Given the description of an element on the screen output the (x, y) to click on. 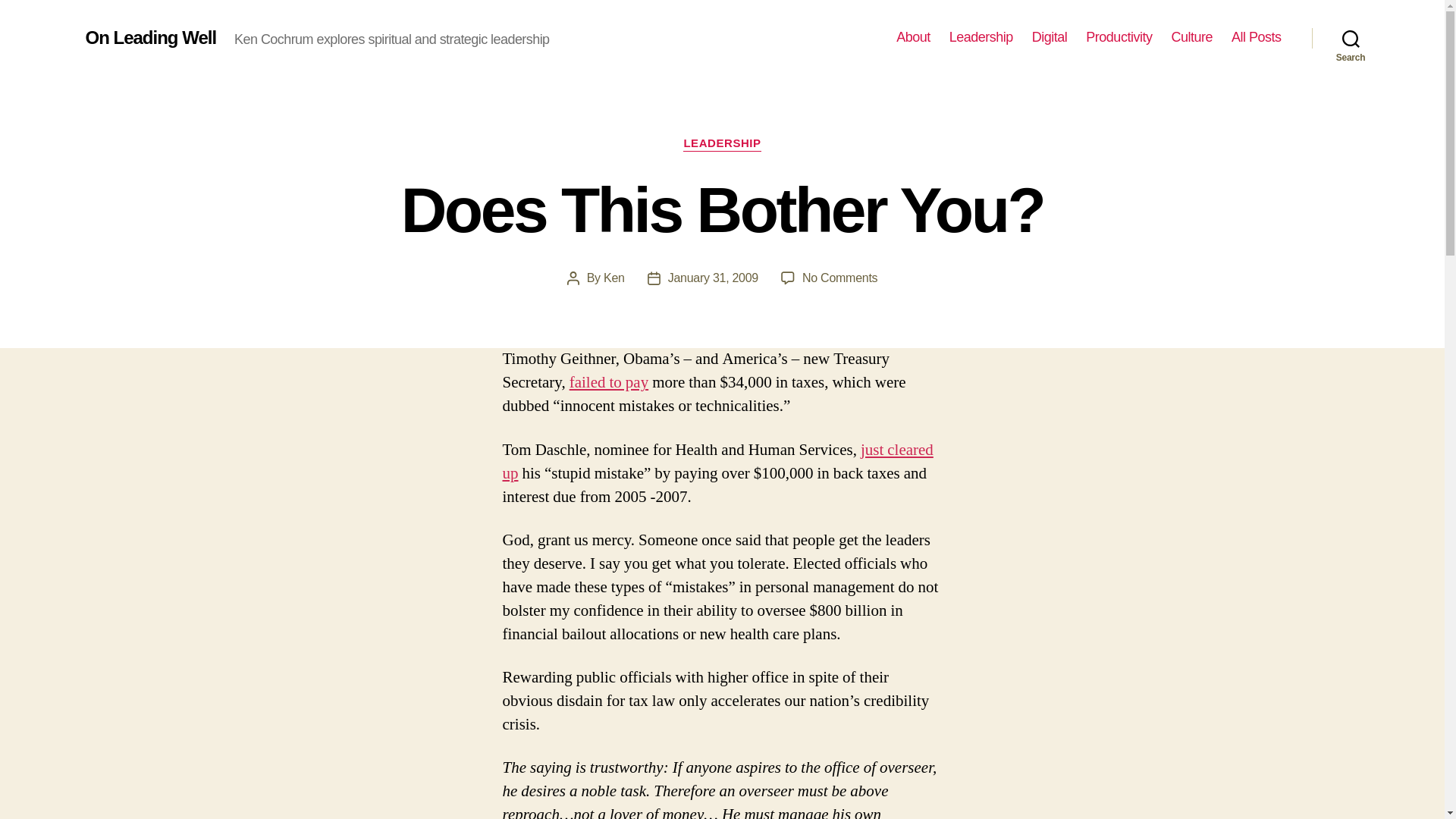
January 31, 2009 (713, 277)
Digital (1049, 37)
failed to pay (608, 382)
LEADERSHIP (721, 143)
On Leading Well (149, 37)
Search (1350, 37)
Culture (839, 277)
Leadership (1191, 37)
Productivity (981, 37)
Ken (1118, 37)
About (614, 277)
just cleared up (913, 37)
All Posts (717, 461)
